Given the description of an element on the screen output the (x, y) to click on. 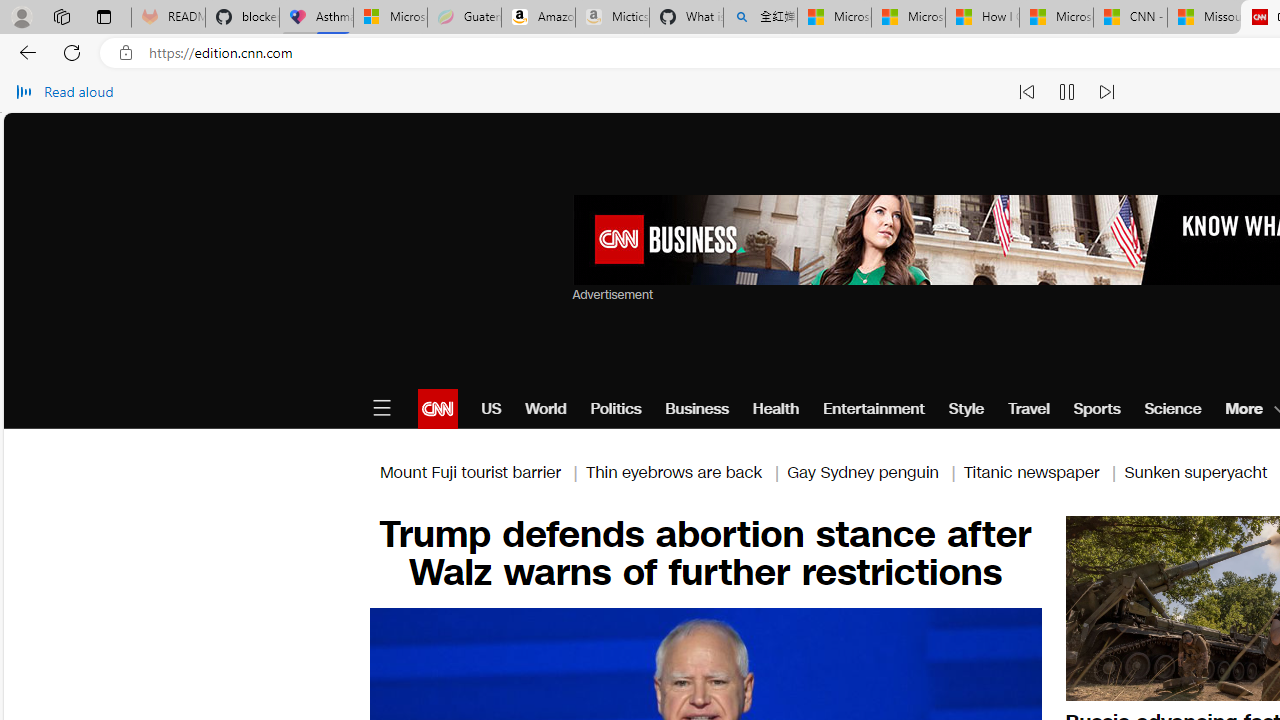
Open Menu Icon (381, 408)
Titanic newspaper | (1043, 471)
Mount Fuji tourist barrier | (482, 471)
Read previous paragraph (1026, 92)
Pause read aloud (Ctrl+Shift+U) (1065, 92)
CNN logo (437, 408)
